Given the description of an element on the screen output the (x, y) to click on. 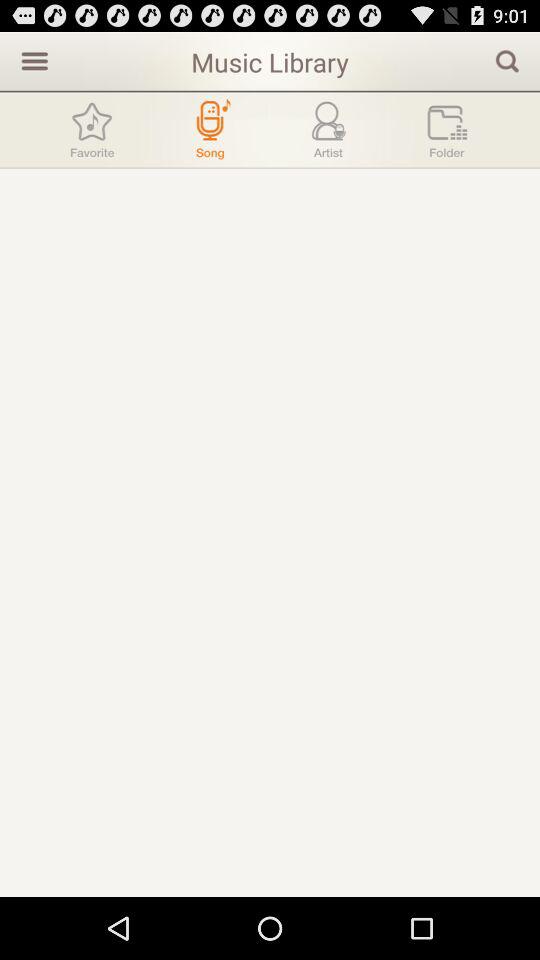
see folders of music (447, 129)
